Given the description of an element on the screen output the (x, y) to click on. 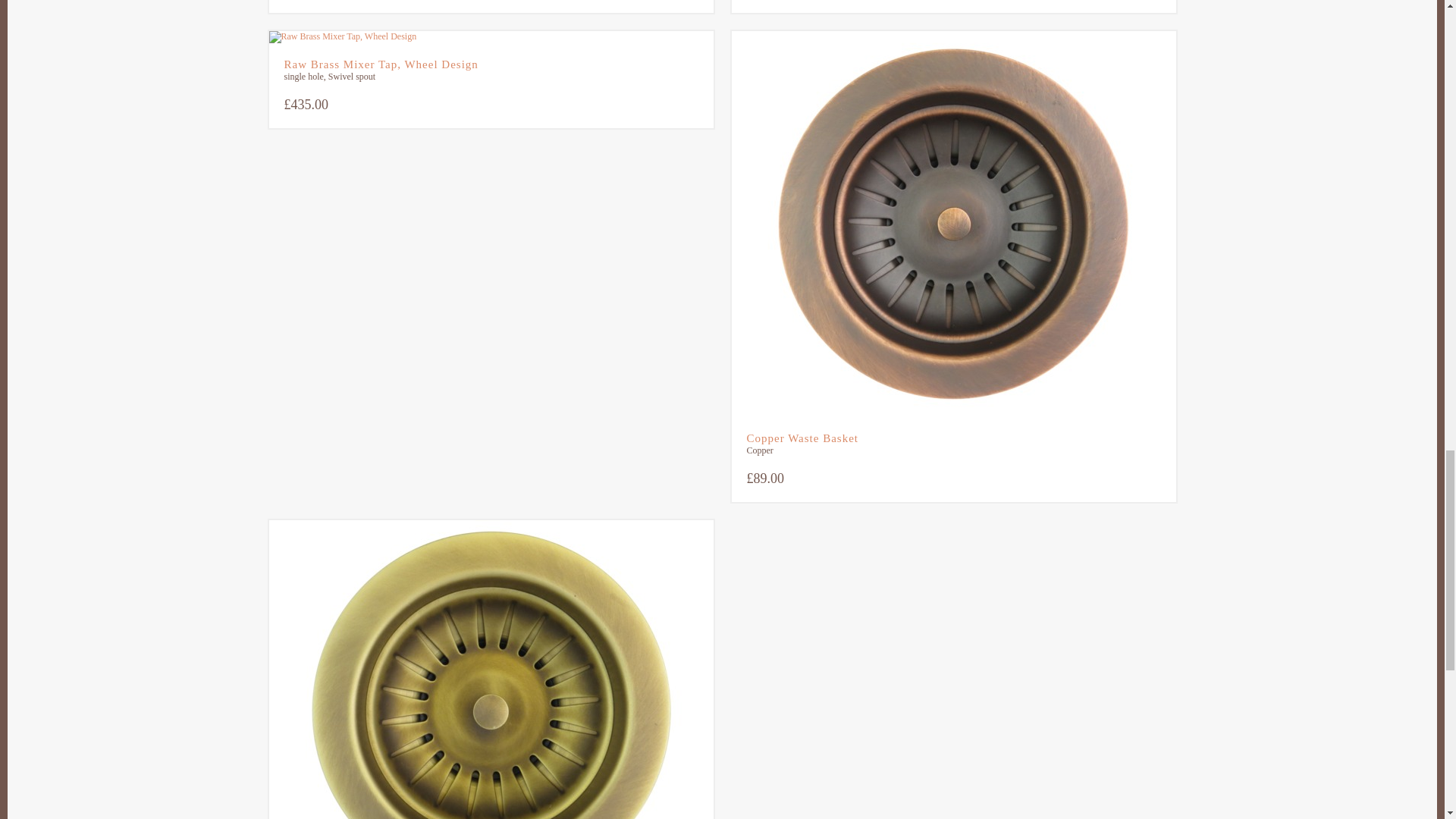
Copper Waste Basket (952, 438)
Raw Brass Mixer Tap, Wheel Design (490, 64)
Raw Brass Mixer Tap, Wheel Design (490, 37)
Brass Waste Basket (490, 669)
